Given the description of an element on the screen output the (x, y) to click on. 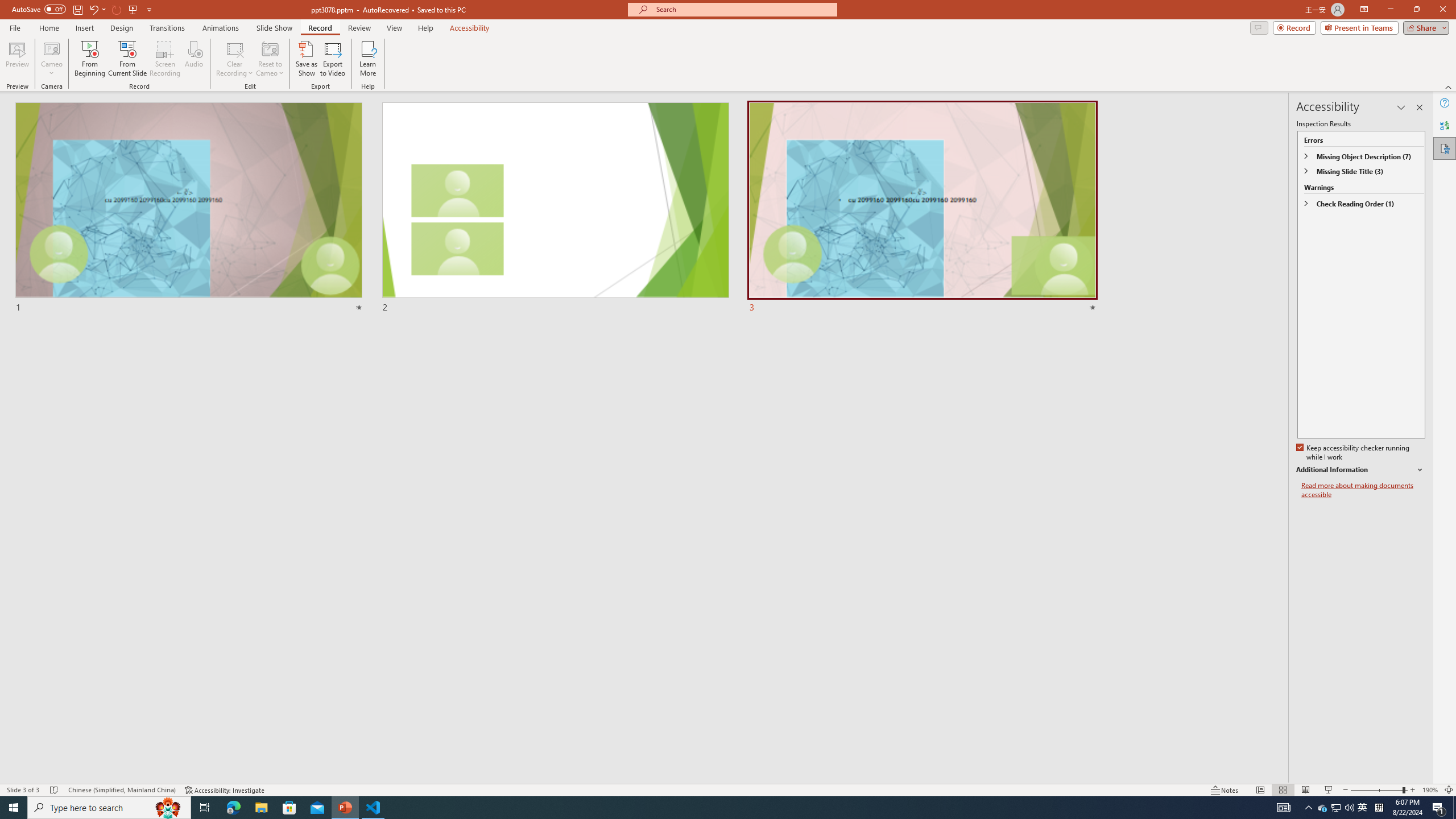
From Beginning... (89, 58)
Audio (193, 58)
Translator (1444, 125)
